Given the description of an element on the screen output the (x, y) to click on. 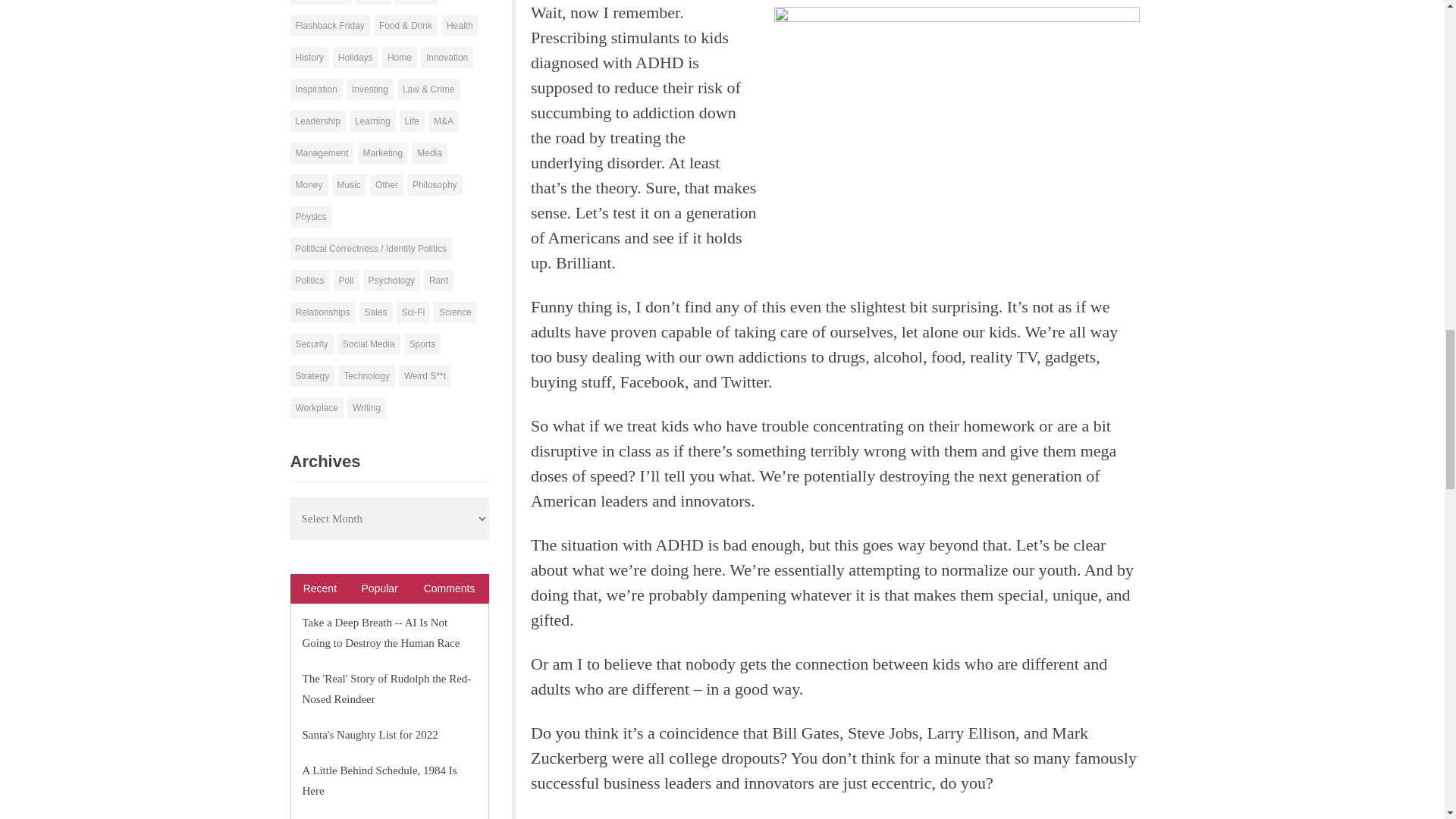
A Little Behind Schedule, 1984 Is Here (379, 779)
The 'Real' Story of Rudolph the Red-Nosed Reindeer (385, 687)
Santa's Naughty List for 2022 (369, 734)
